Given the description of an element on the screen output the (x, y) to click on. 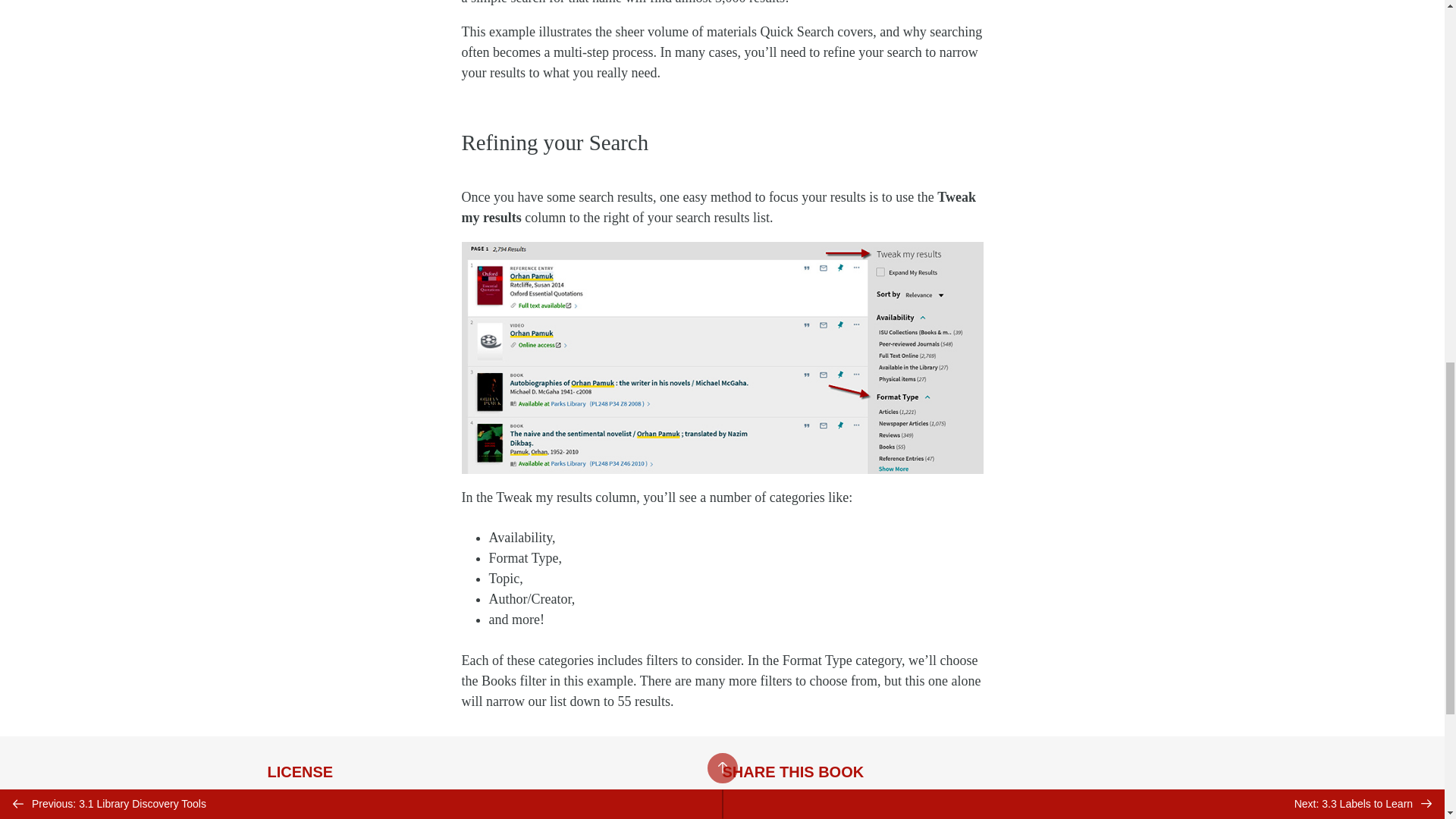
Share on Twitter (740, 807)
LIB 160: Information Literacy (353, 805)
Share on Twitter (740, 807)
